Given the description of an element on the screen output the (x, y) to click on. 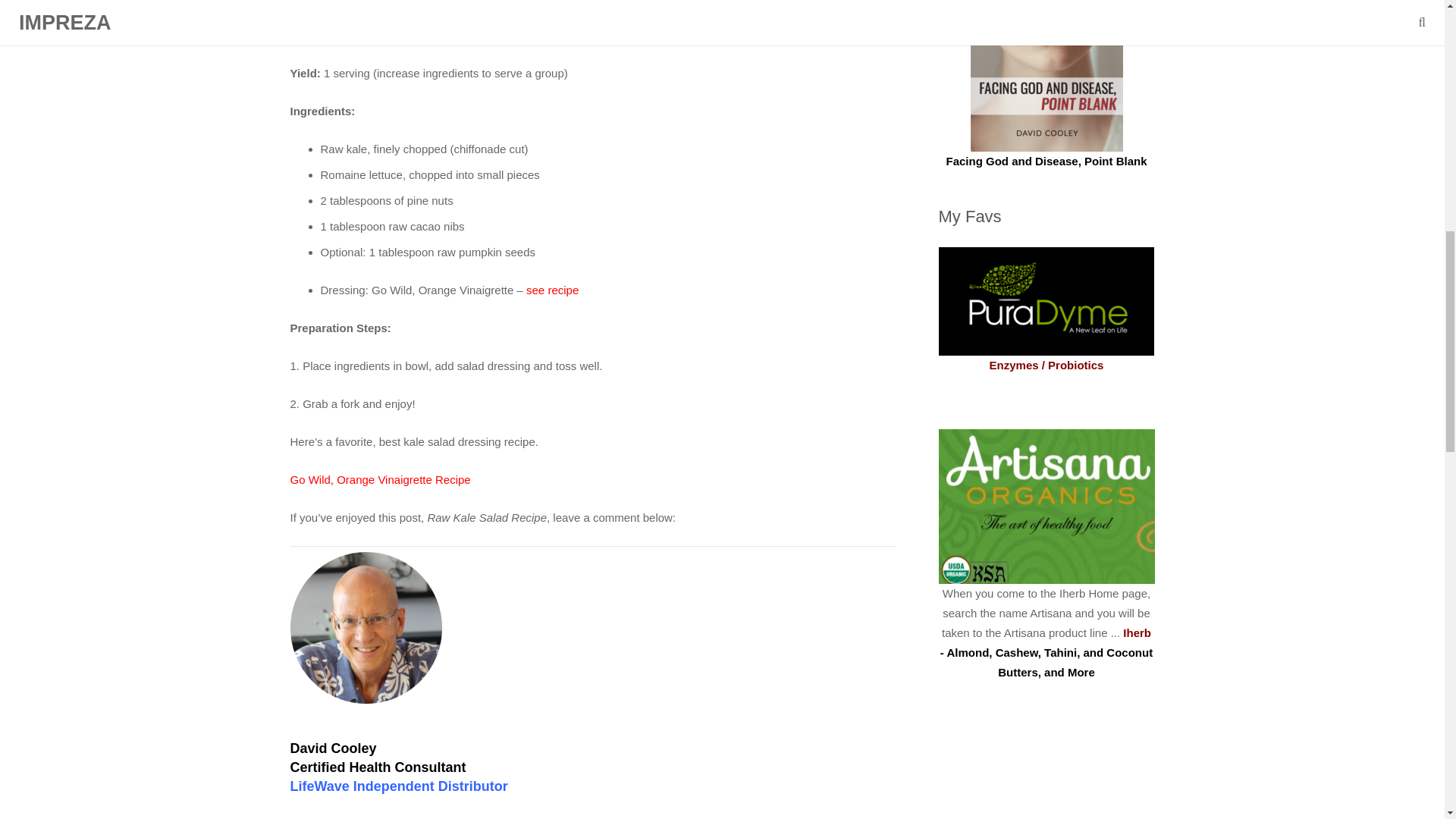
Go Wild, Orange Vinaigrette Recipe (379, 479)
Facing God and Disease, Point Blank (1045, 160)
see recipe (551, 289)
Back to top (1413, 22)
LifeWave Independent Distributor (397, 785)
